Given the description of an element on the screen output the (x, y) to click on. 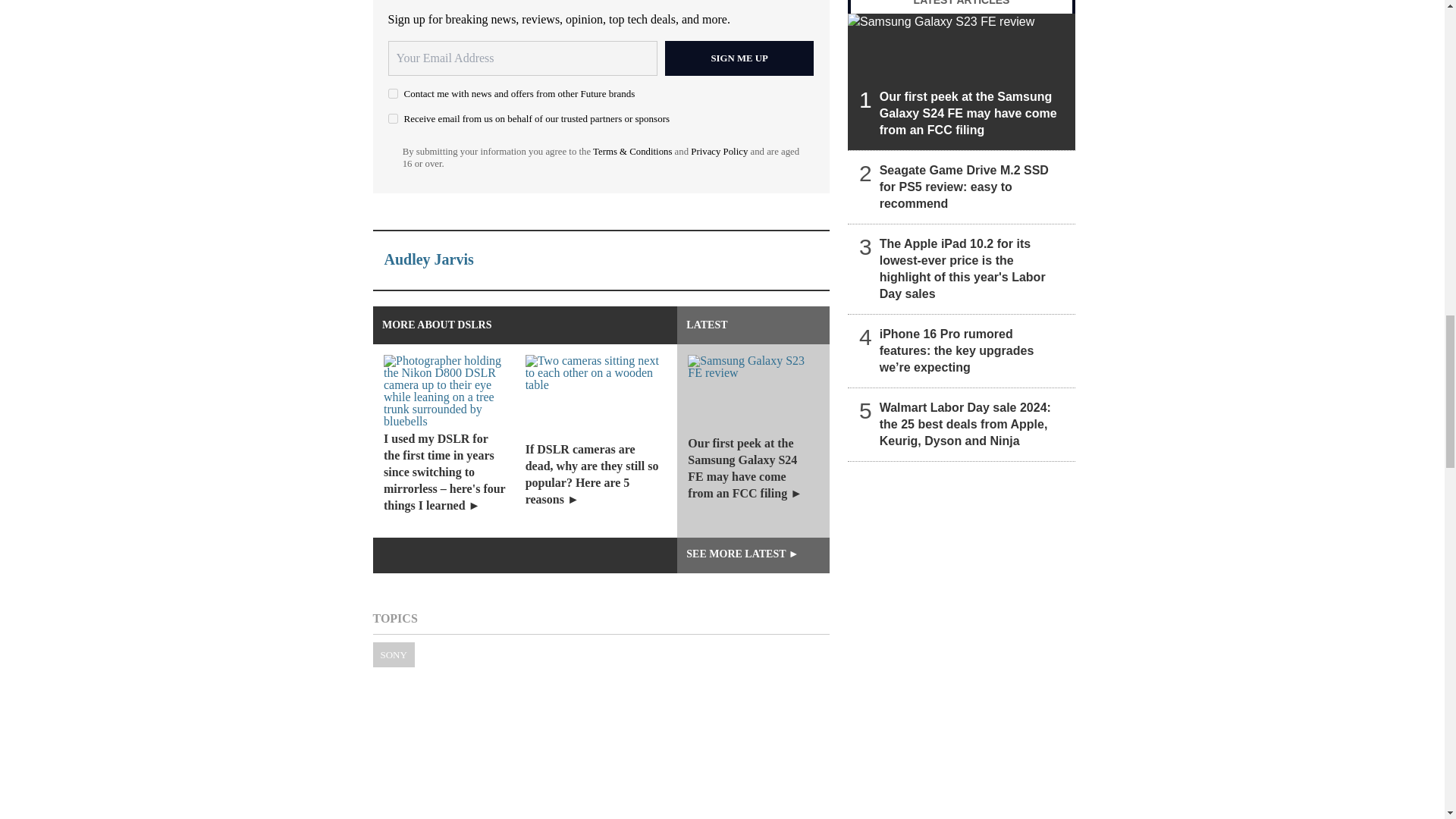
Sign me up (739, 58)
on (392, 118)
on (392, 93)
